Given the description of an element on the screen output the (x, y) to click on. 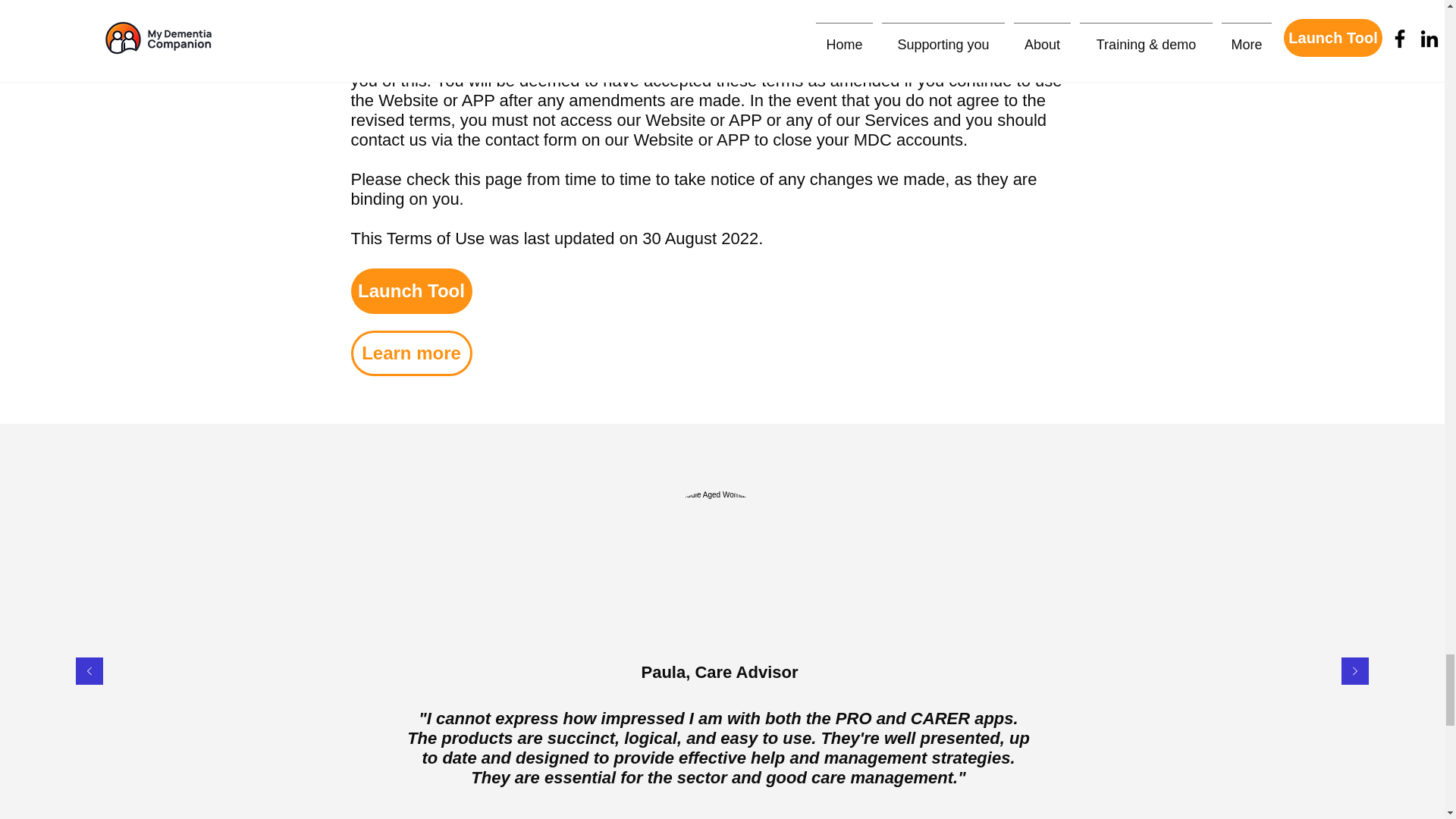
Launch Tool (410, 290)
GettyImages-124893619.jpg (716, 566)
Learn more (410, 352)
